Given the description of an element on the screen output the (x, y) to click on. 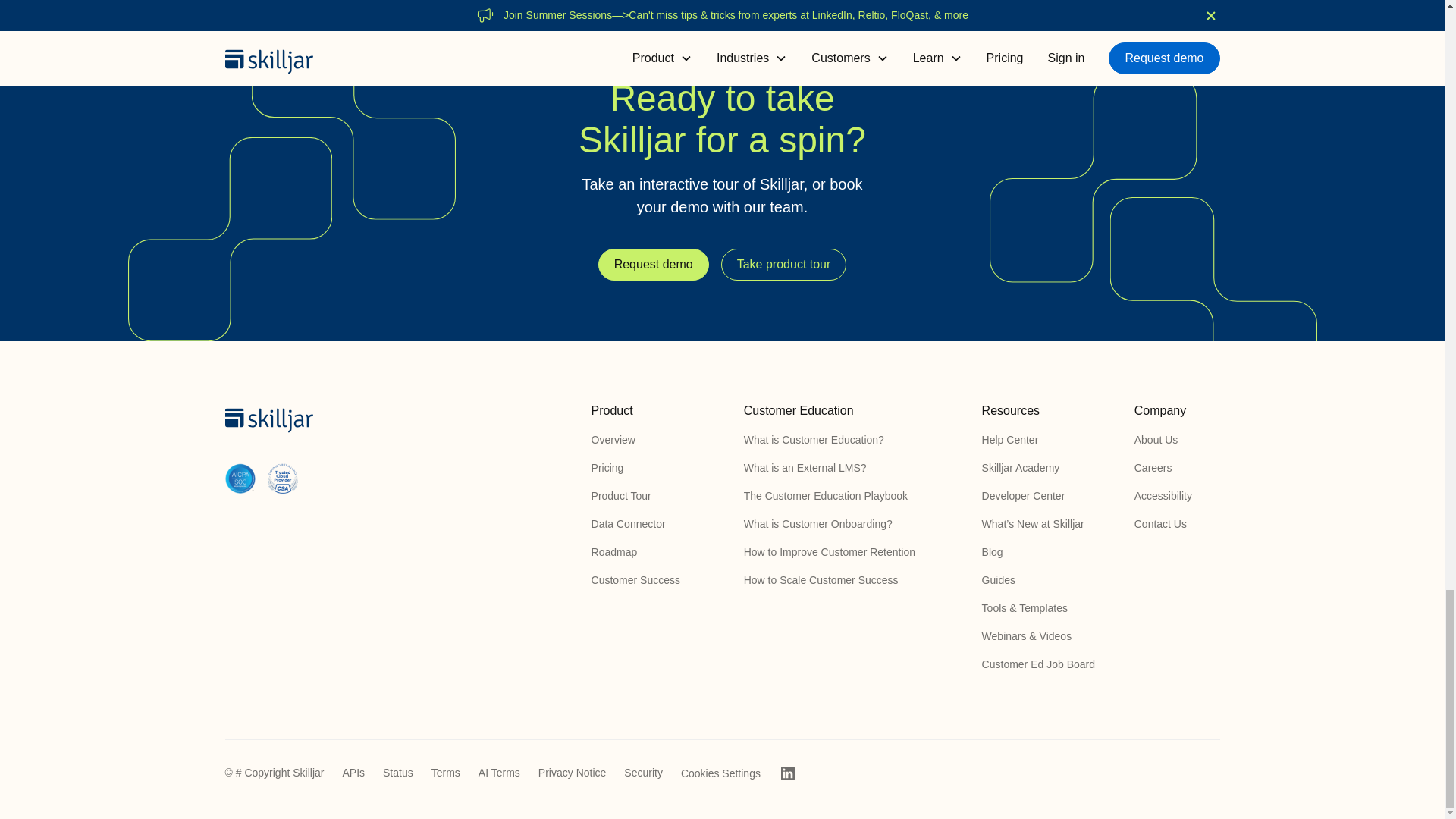
Take product tour (783, 264)
Request demo (653, 264)
